Given the description of an element on the screen output the (x, y) to click on. 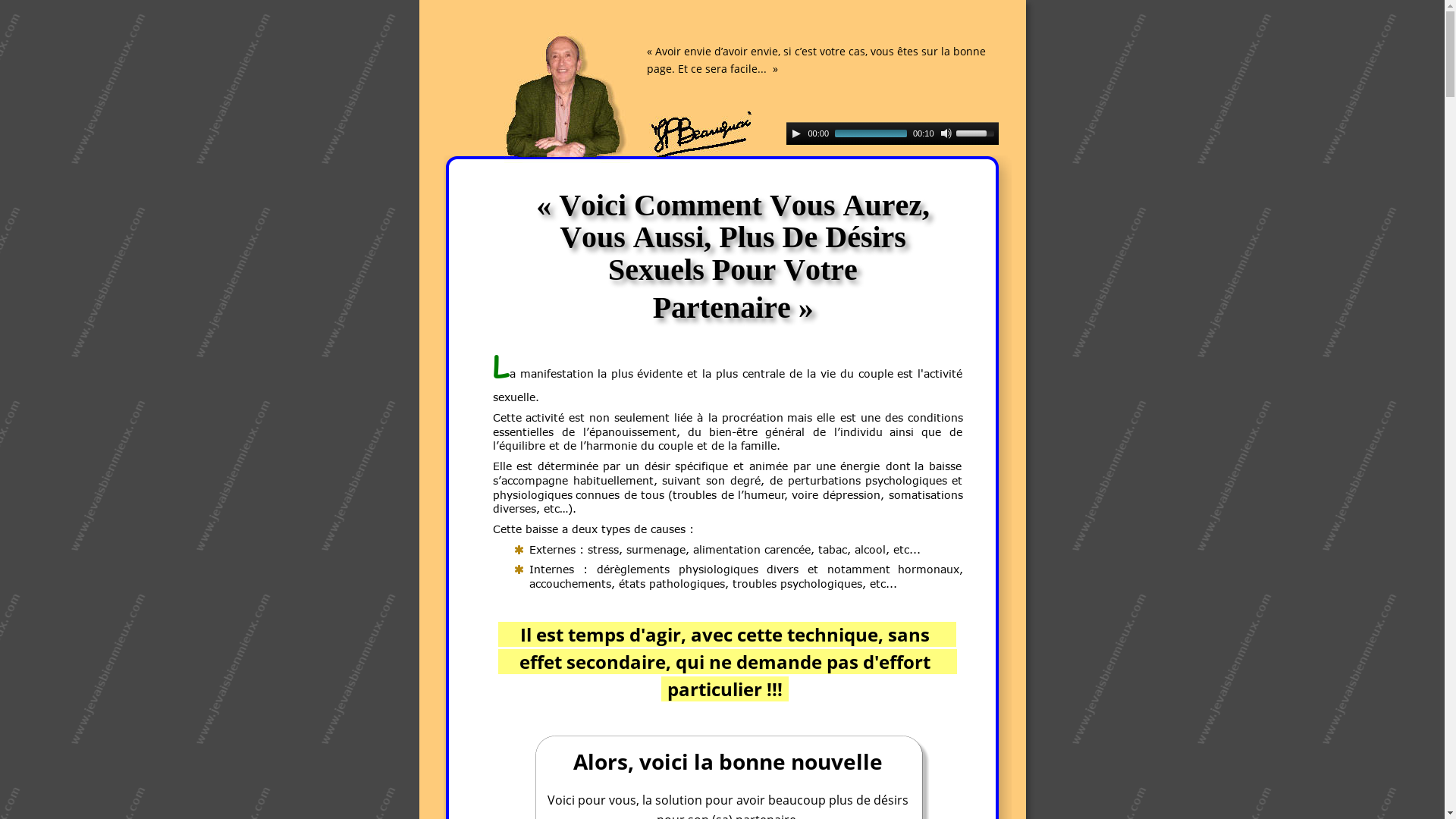
Play Element type: hover (796, 133)
Mute Element type: hover (946, 133)
